Given the description of an element on the screen output the (x, y) to click on. 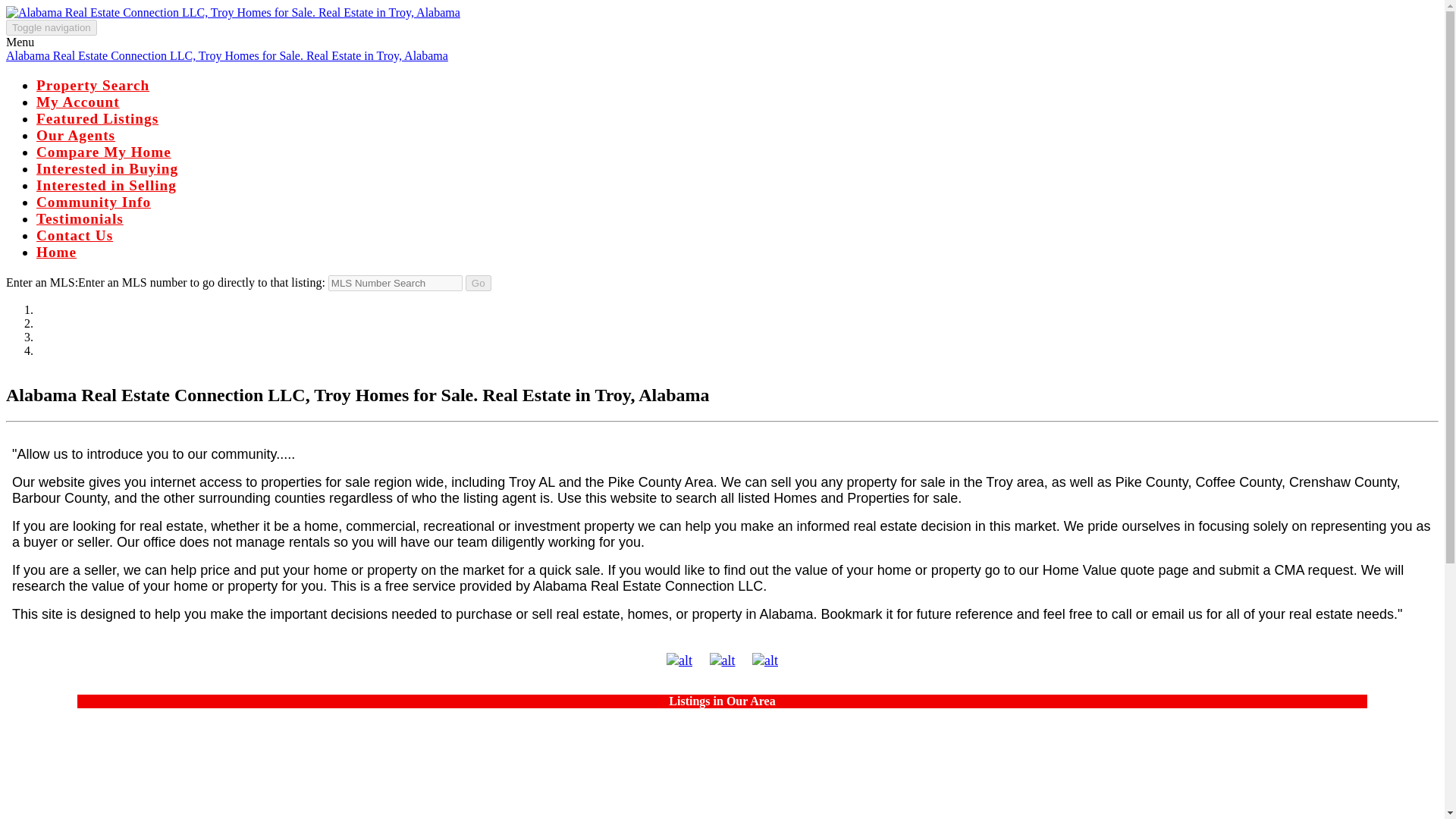
Compare My Home (103, 151)
Property Search (92, 84)
Testimonials (79, 218)
Community Info (93, 201)
Interested in Buying (106, 168)
Featured Listings (97, 118)
Interested in Selling (106, 184)
Contact Us (74, 235)
My Account (77, 101)
Home (56, 251)
Toggle navigation (51, 27)
Our Agents (75, 134)
Go (478, 283)
